Given the description of an element on the screen output the (x, y) to click on. 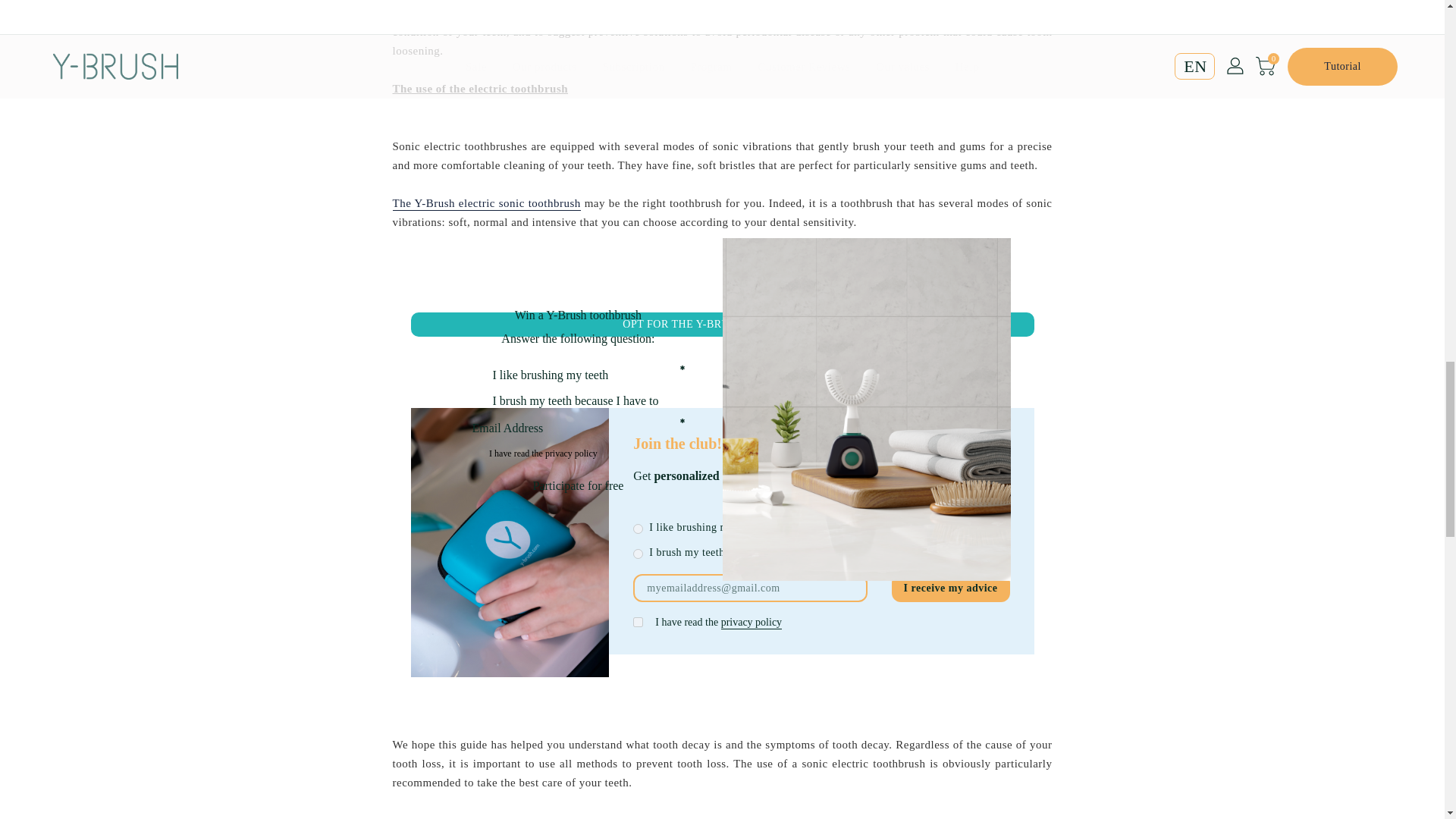
Hardworking (638, 528)
on (638, 621)
Flexible (638, 553)
